Given the description of an element on the screen output the (x, y) to click on. 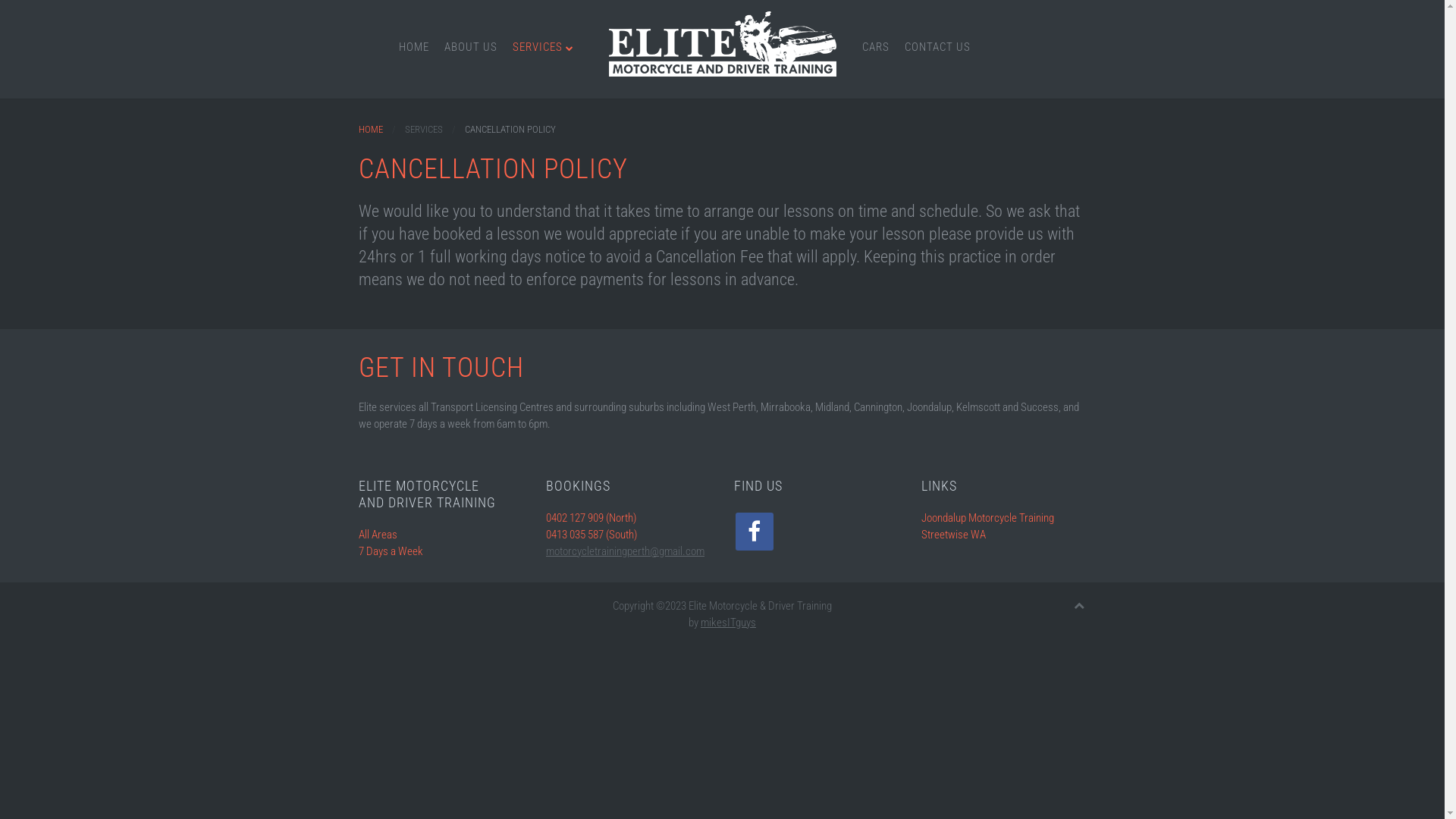
mikesITguys Element type: text (728, 622)
Streetwise WA Element type: text (953, 534)
HOME Element type: text (369, 129)
CONTACT US Element type: text (936, 46)
motorcycletrainingperth@gmail.com Element type: text (625, 551)
HOME Element type: text (413, 46)
ABOUT US Element type: text (470, 46)
Joondalup Motorcycle Training Element type: text (987, 517)
SERVICES Element type: text (543, 46)
CARS Element type: text (874, 46)
